Given the description of an element on the screen output the (x, y) to click on. 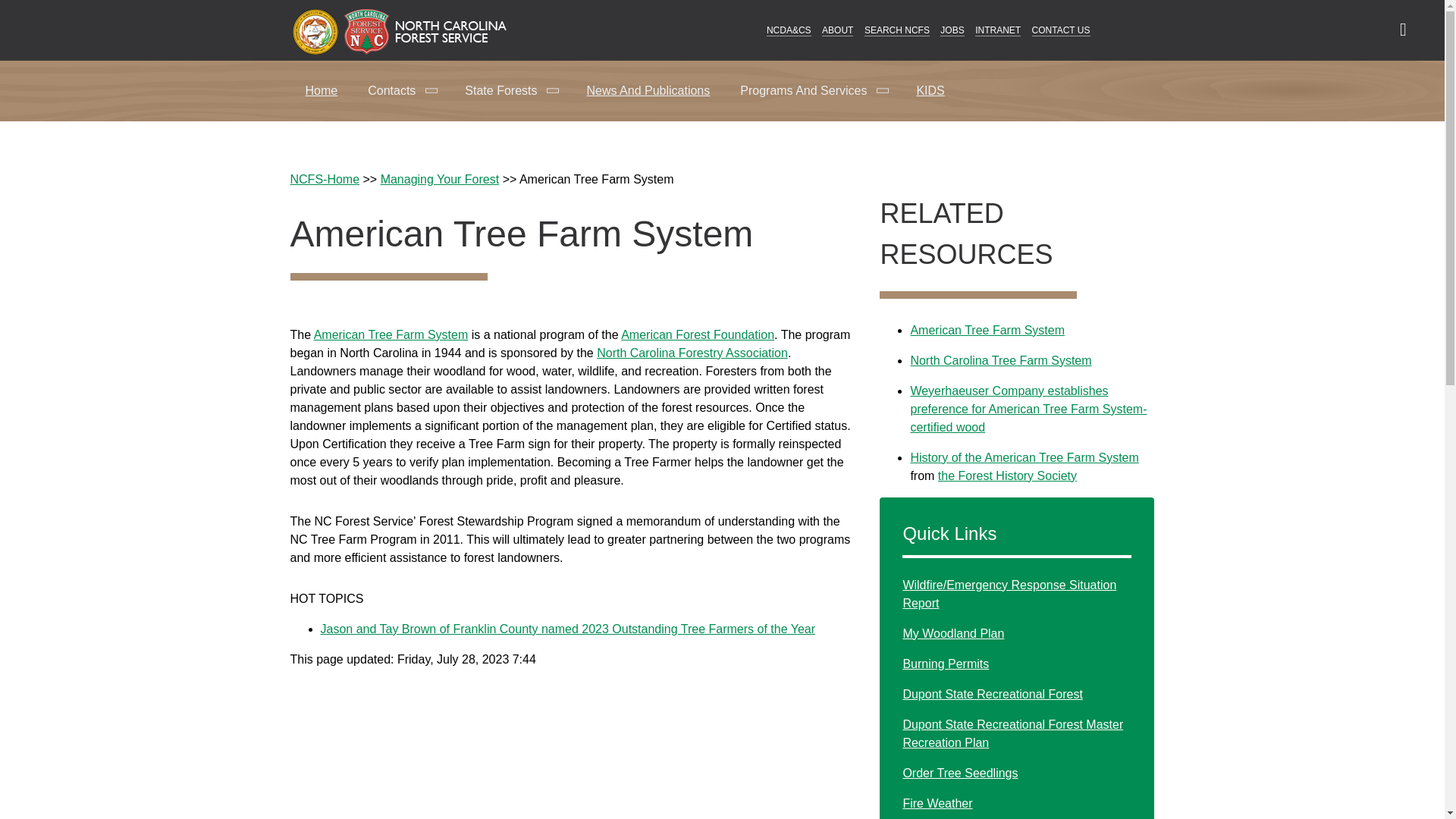
Intranet (998, 30)
News And Publications (647, 90)
Services (1060, 30)
Home (320, 90)
Contacts (400, 90)
NCFS (399, 31)
State Forests (509, 90)
Jobs (952, 30)
NCFS.GOV Home (399, 31)
Programs And Services (813, 90)
